Given the description of an element on the screen output the (x, y) to click on. 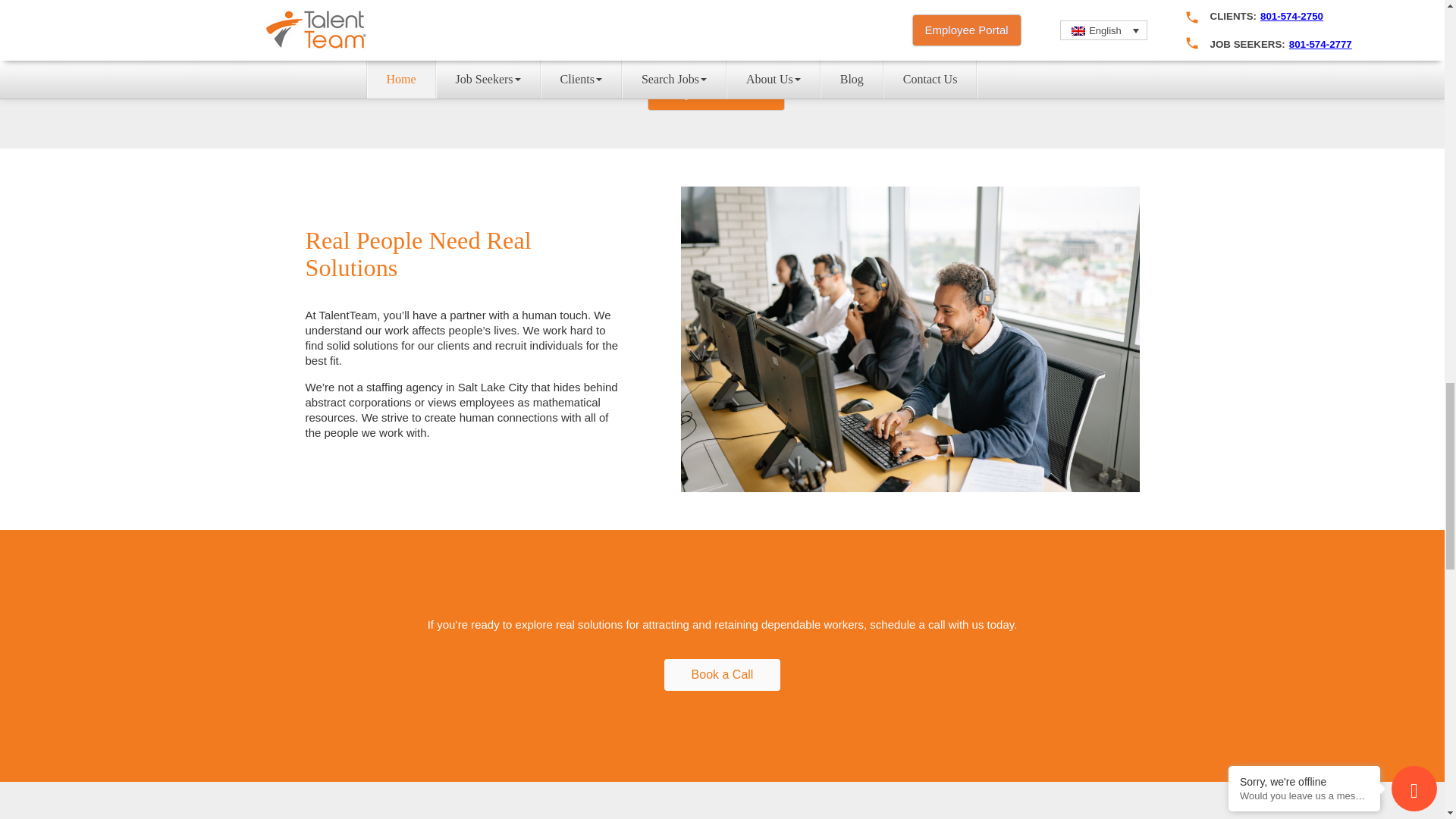
Fullscreen (567, 43)
Mute (542, 43)
Play (336, 43)
